Given the description of an element on the screen output the (x, y) to click on. 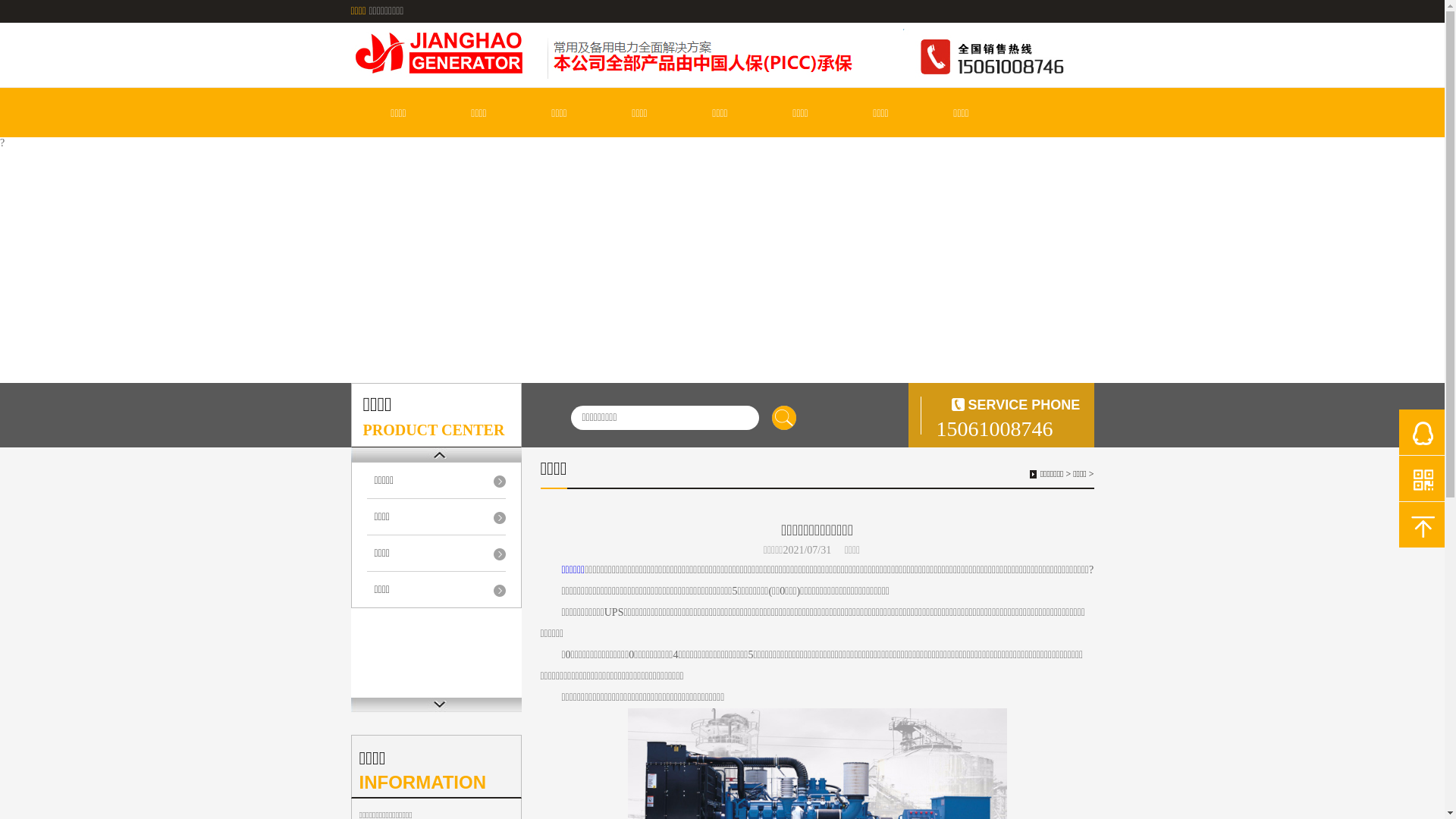
  Element type: text (783, 417)
